Given the description of an element on the screen output the (x, y) to click on. 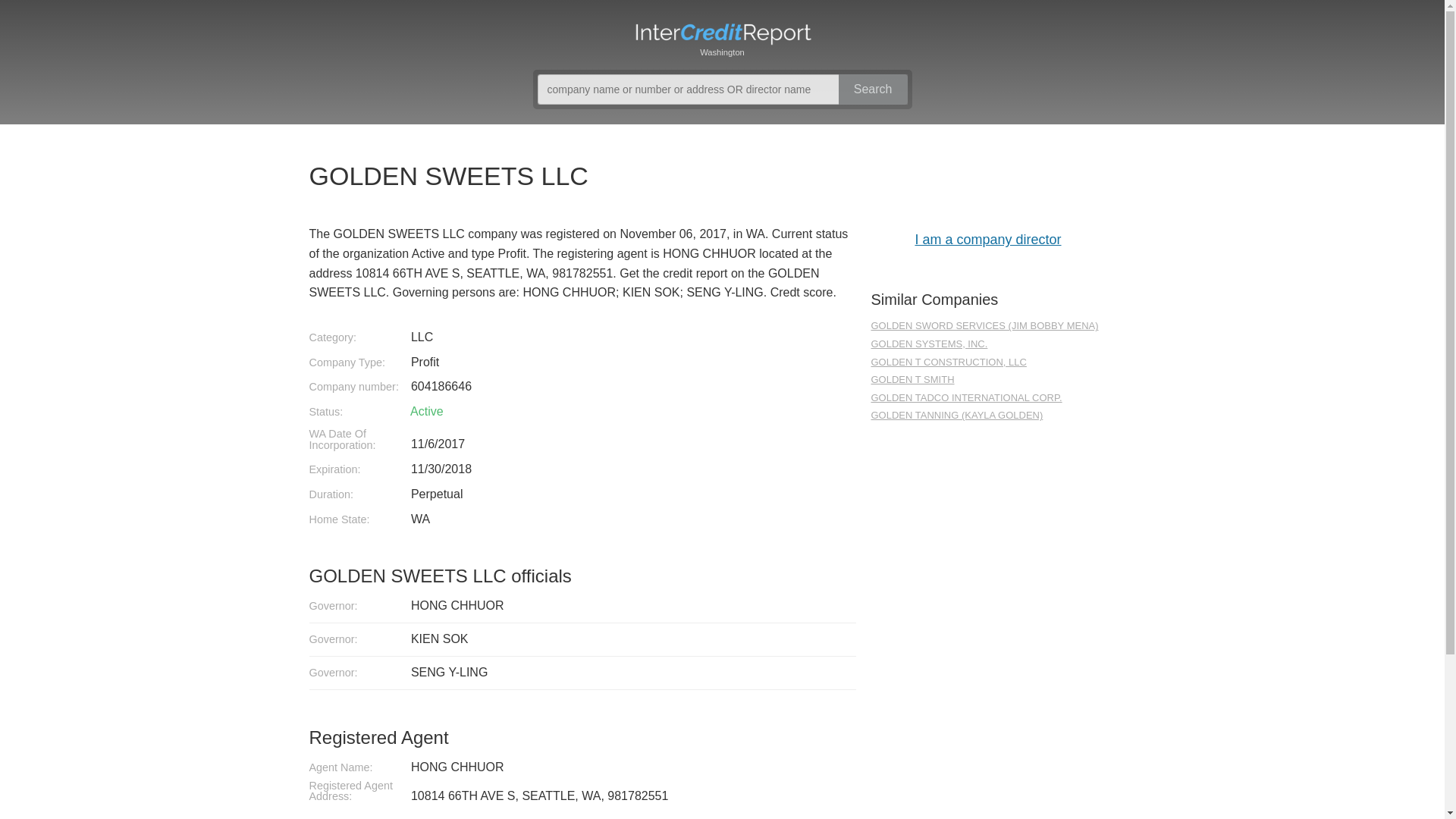
Washington (721, 38)
GOLDEN T CONSTRUCTION, LLC (987, 361)
I am a company director (986, 238)
I am a company director (986, 238)
GOLDEN TADCO INTERNATIONAL CORP. (987, 398)
Search (872, 89)
GOLDEN T SMITH (987, 380)
GOLDEN SYSTEMS, INC. (987, 344)
